Given the description of an element on the screen output the (x, y) to click on. 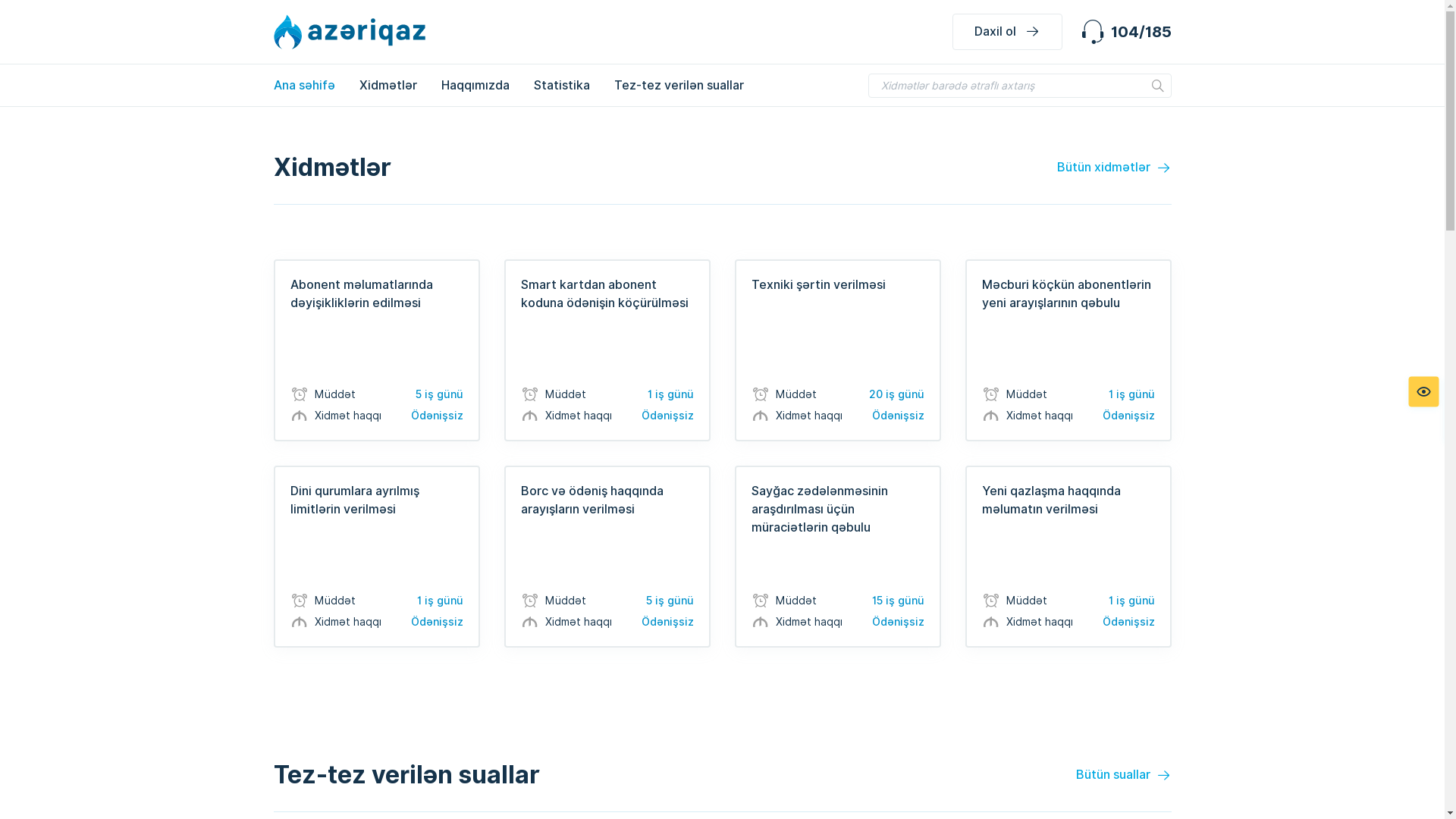
Statistika Element type: text (561, 84)
104/185 Element type: text (1124, 31)
Daxil ol Element type: text (1007, 31)
